Given the description of an element on the screen output the (x, y) to click on. 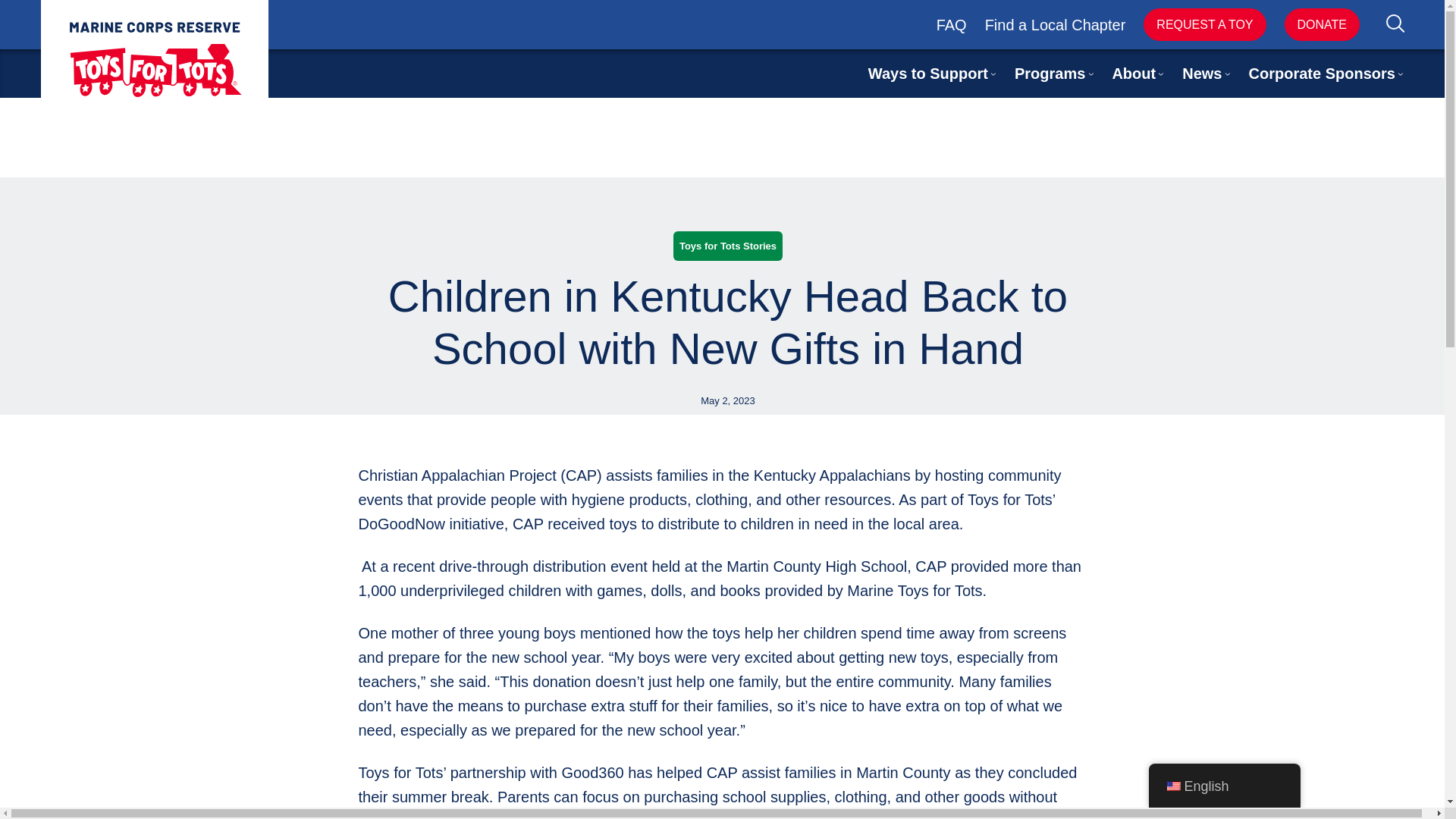
Programs (1049, 73)
Ways to Support (927, 73)
News (1201, 73)
DONATE (1321, 24)
English (1172, 786)
Find a (1007, 24)
About (1134, 73)
FAQ (951, 24)
REQUEST A TOY (1203, 24)
Local Chapter (1077, 24)
